Given the description of an element on the screen output the (x, y) to click on. 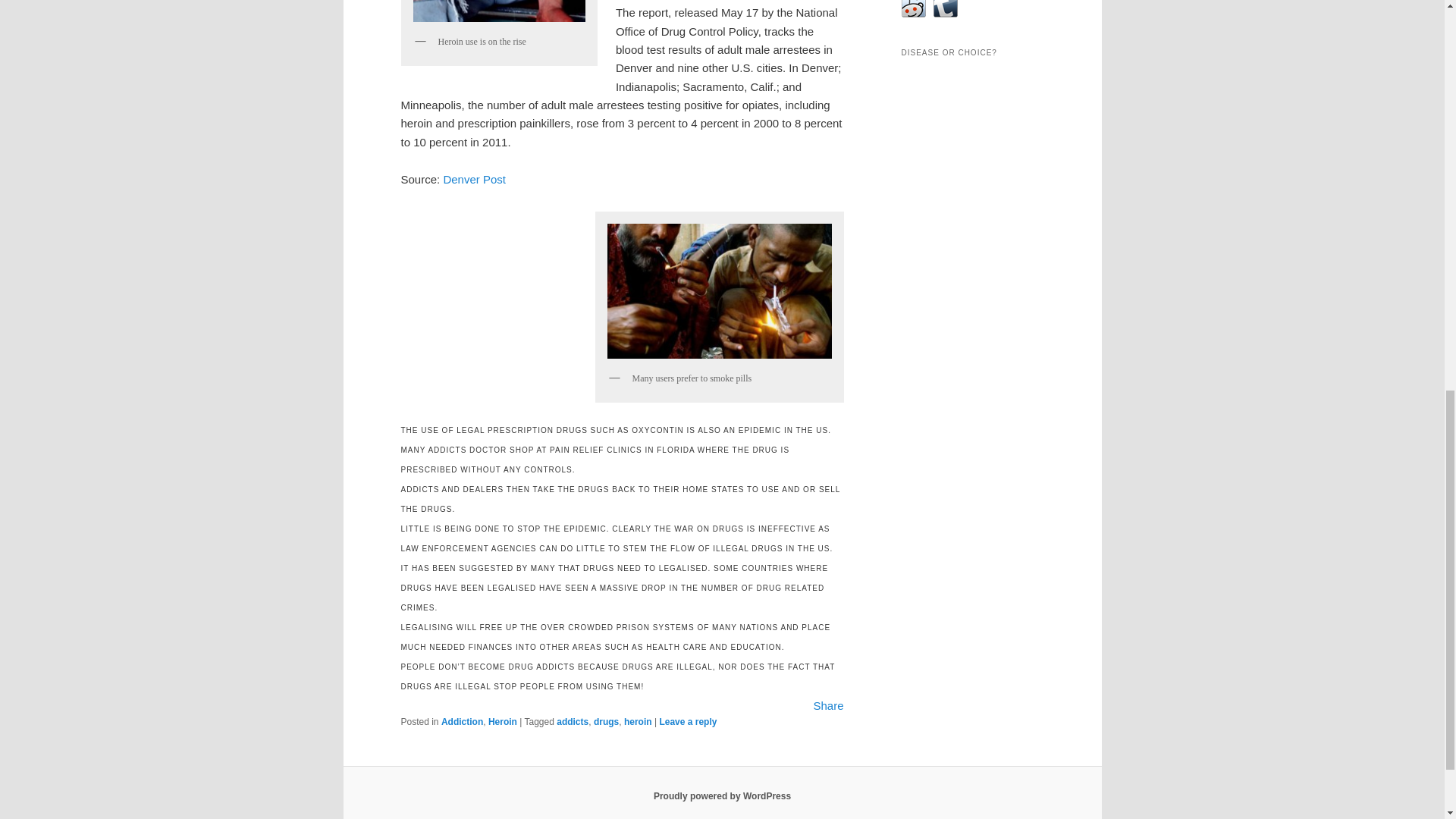
Semantic Personal Publishing Platform (721, 796)
Denver Post (473, 178)
drugs (606, 721)
Heroin (501, 721)
Share (827, 705)
addicts (572, 721)
Leave a reply (687, 721)
Addiction (462, 721)
Denver Post (473, 178)
Proudly powered by WordPress (721, 796)
4heroin (719, 290)
heroin-addiction (499, 13)
heroin (638, 721)
